Given the description of an element on the screen output the (x, y) to click on. 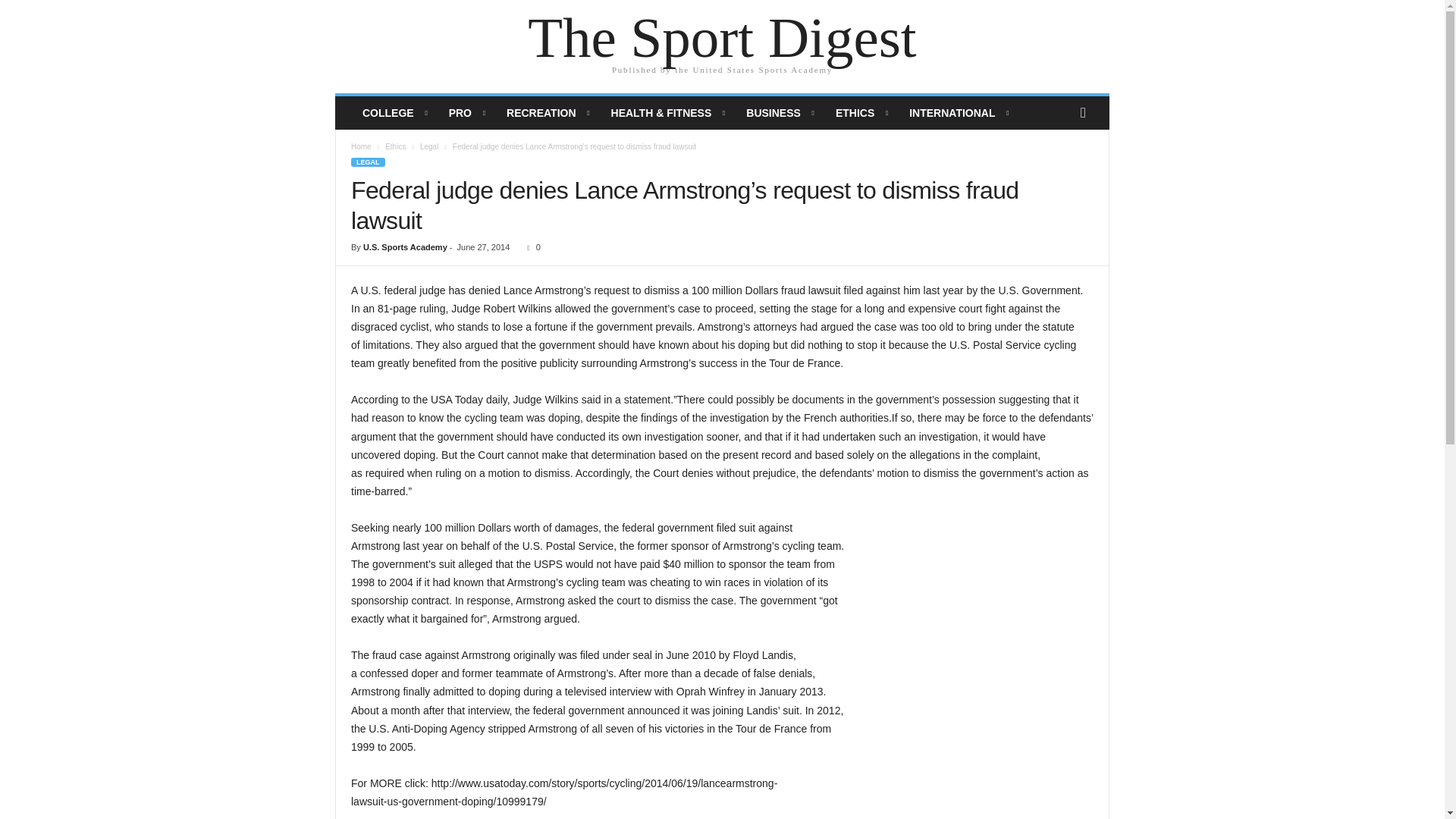
View all posts in Ethics (395, 146)
View all posts in Legal (429, 146)
